Given the description of an element on the screen output the (x, y) to click on. 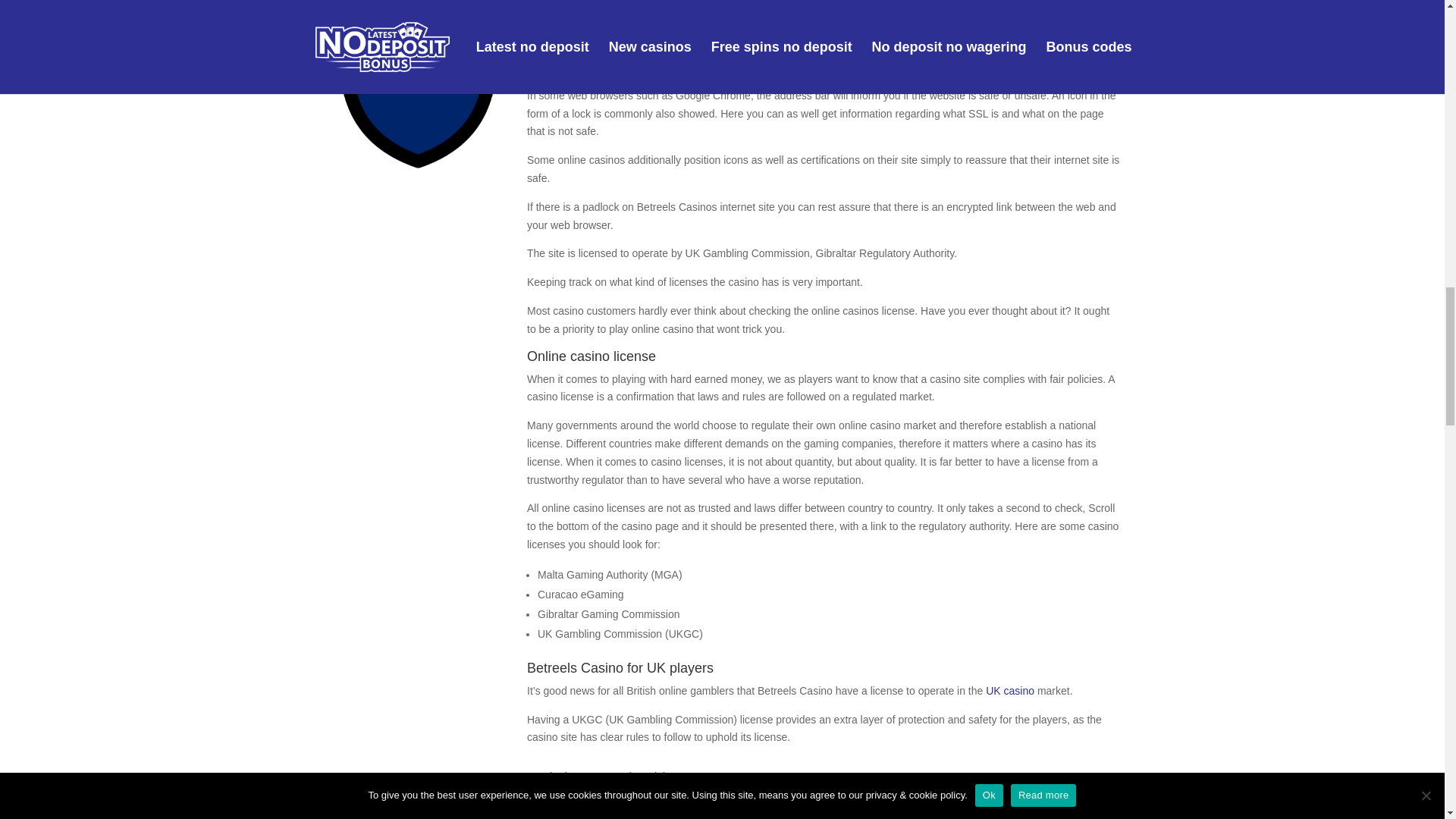
Get the latest UK no deposit bonuses (615, 776)
UK casino (1009, 690)
